Given the description of an element on the screen output the (x, y) to click on. 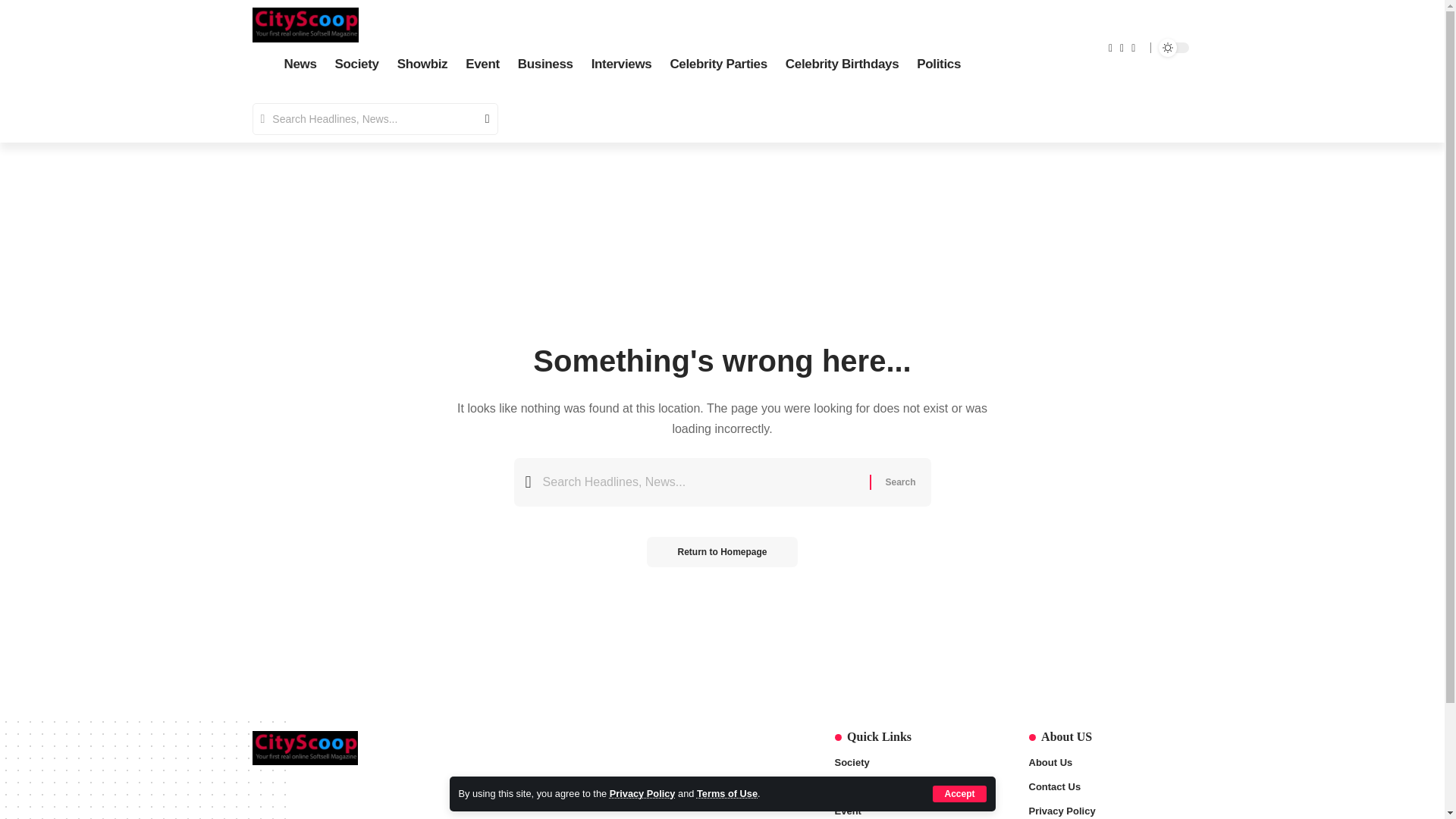
Celebrity Parties (718, 64)
Society (915, 764)
Society (357, 64)
Showbiz (422, 64)
Privacy Policy (642, 793)
Accept (959, 793)
Event (482, 64)
Politics (938, 64)
Terms of Use (727, 793)
Search (480, 119)
